Given the description of an element on the screen output the (x, y) to click on. 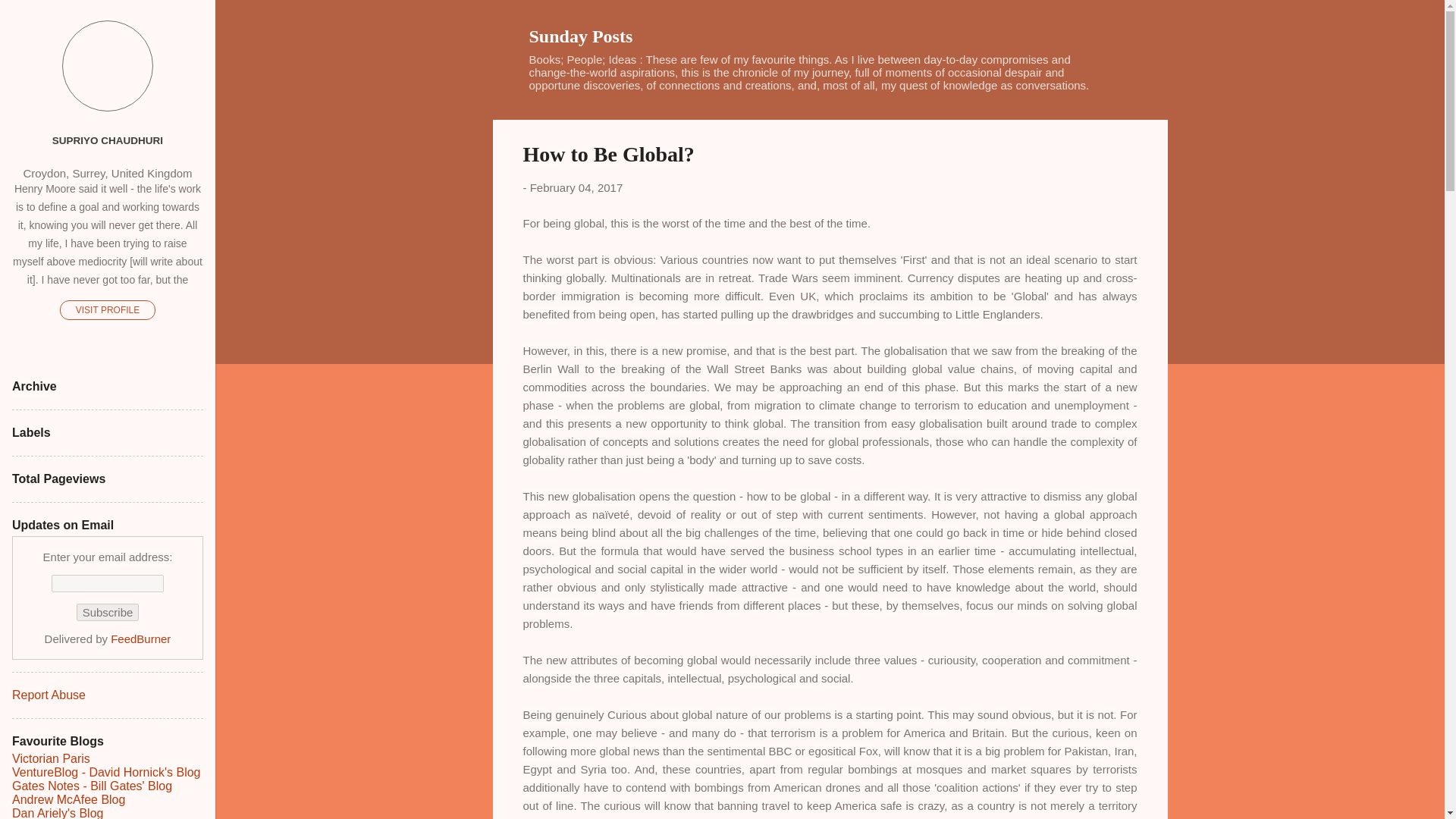
permanent link (576, 187)
Sunday Posts (581, 35)
February 04, 2017 (576, 187)
Subscribe (108, 611)
Search (29, 18)
